Given the description of an element on the screen output the (x, y) to click on. 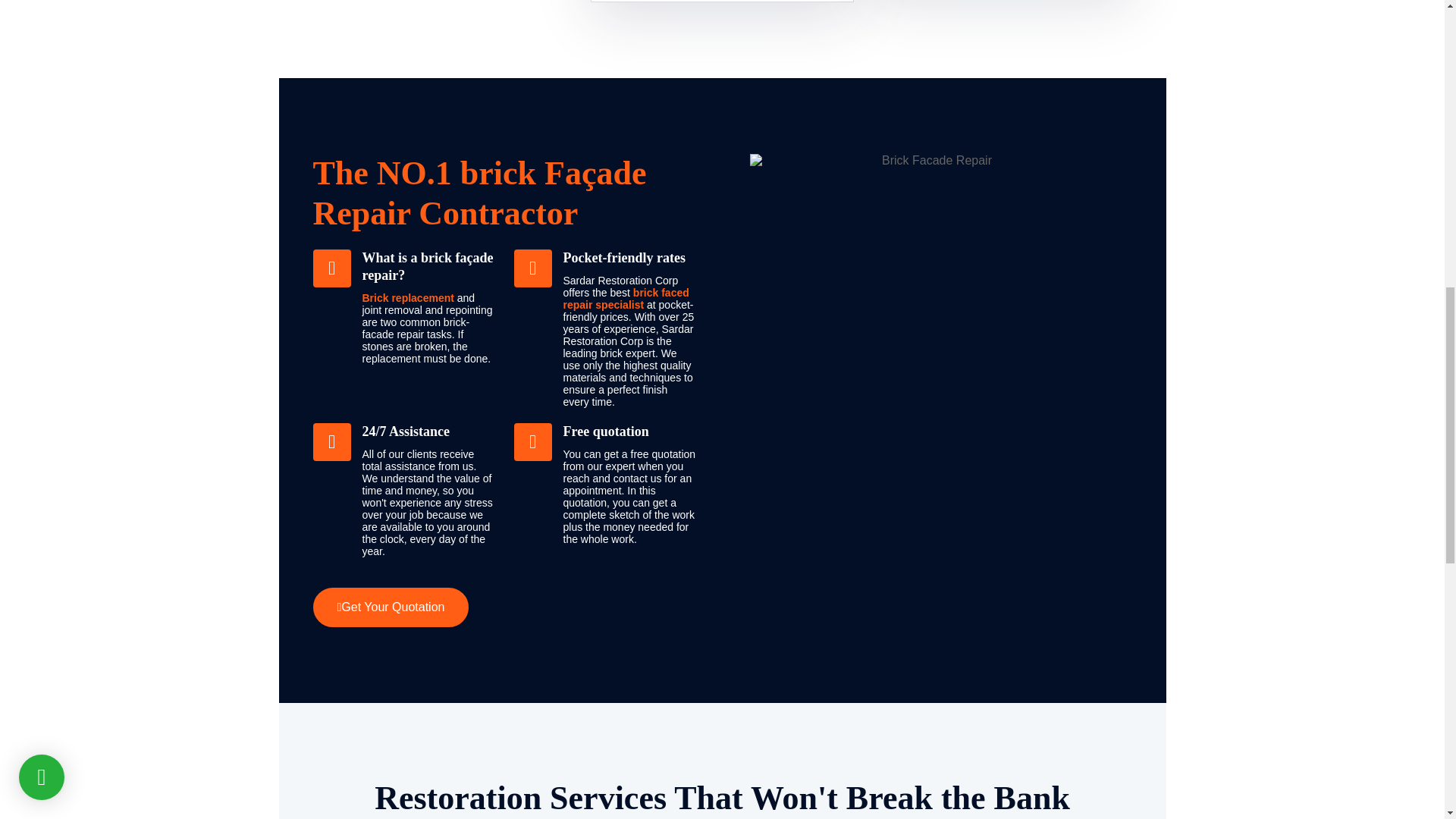
Get Your Quotation (390, 607)
brick faced repair specialist (625, 298)
Brick replacement (408, 297)
